Given the description of an element on the screen output the (x, y) to click on. 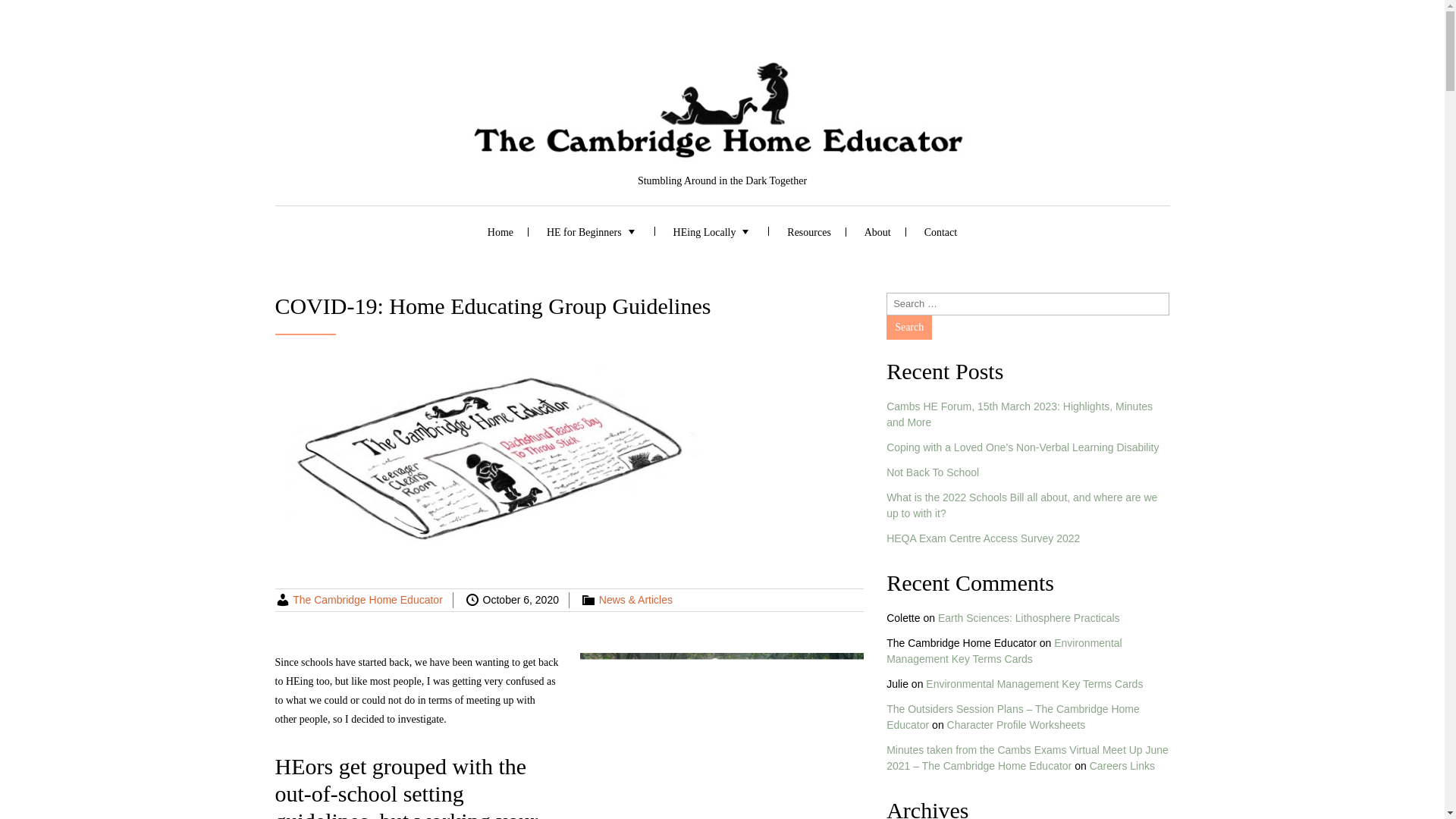
Home (499, 231)
Search for: (1027, 303)
Resources (808, 231)
Contact (940, 231)
About (876, 231)
The Cambridge Home Educator (367, 599)
HEing Locally (714, 230)
Search (908, 327)
HE for Beginners (593, 230)
